Given the description of an element on the screen output the (x, y) to click on. 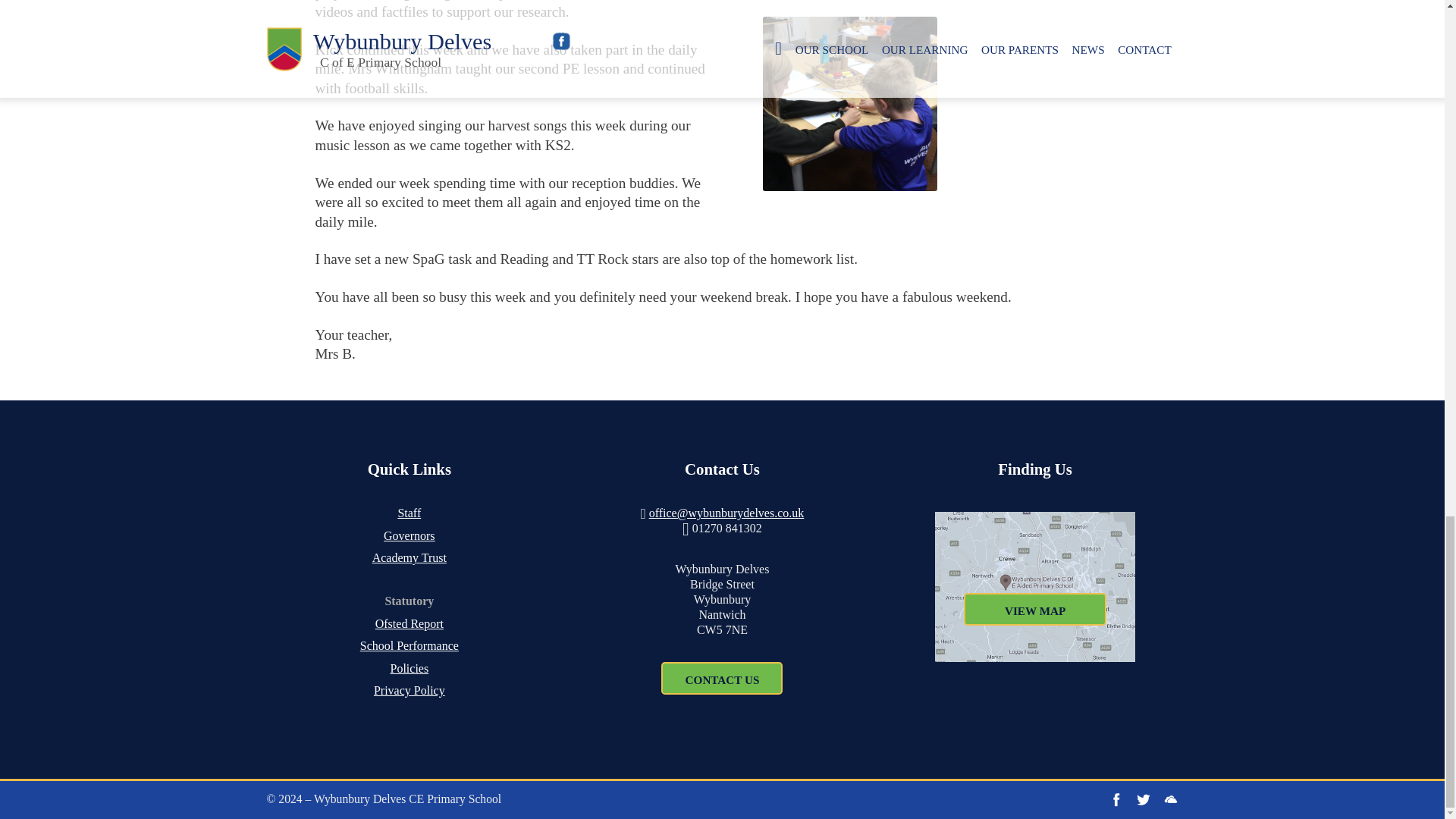
Sign into the Cloud (1170, 798)
Visit our Facebook Page (1116, 798)
Visit our X Feed (1143, 798)
